Given the description of an element on the screen output the (x, y) to click on. 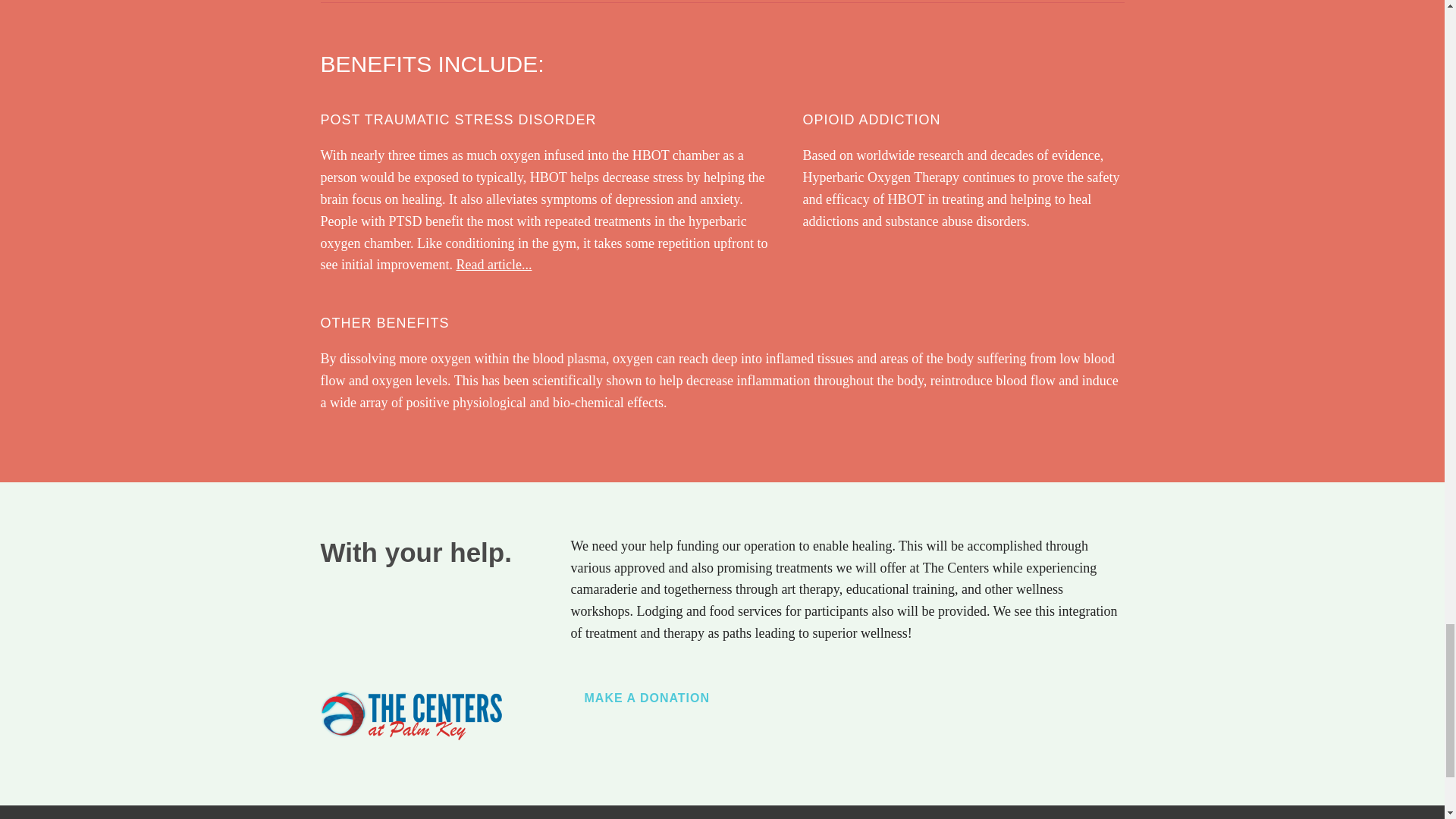
Read article... (493, 264)
logo (411, 712)
